Given the description of an element on the screen output the (x, y) to click on. 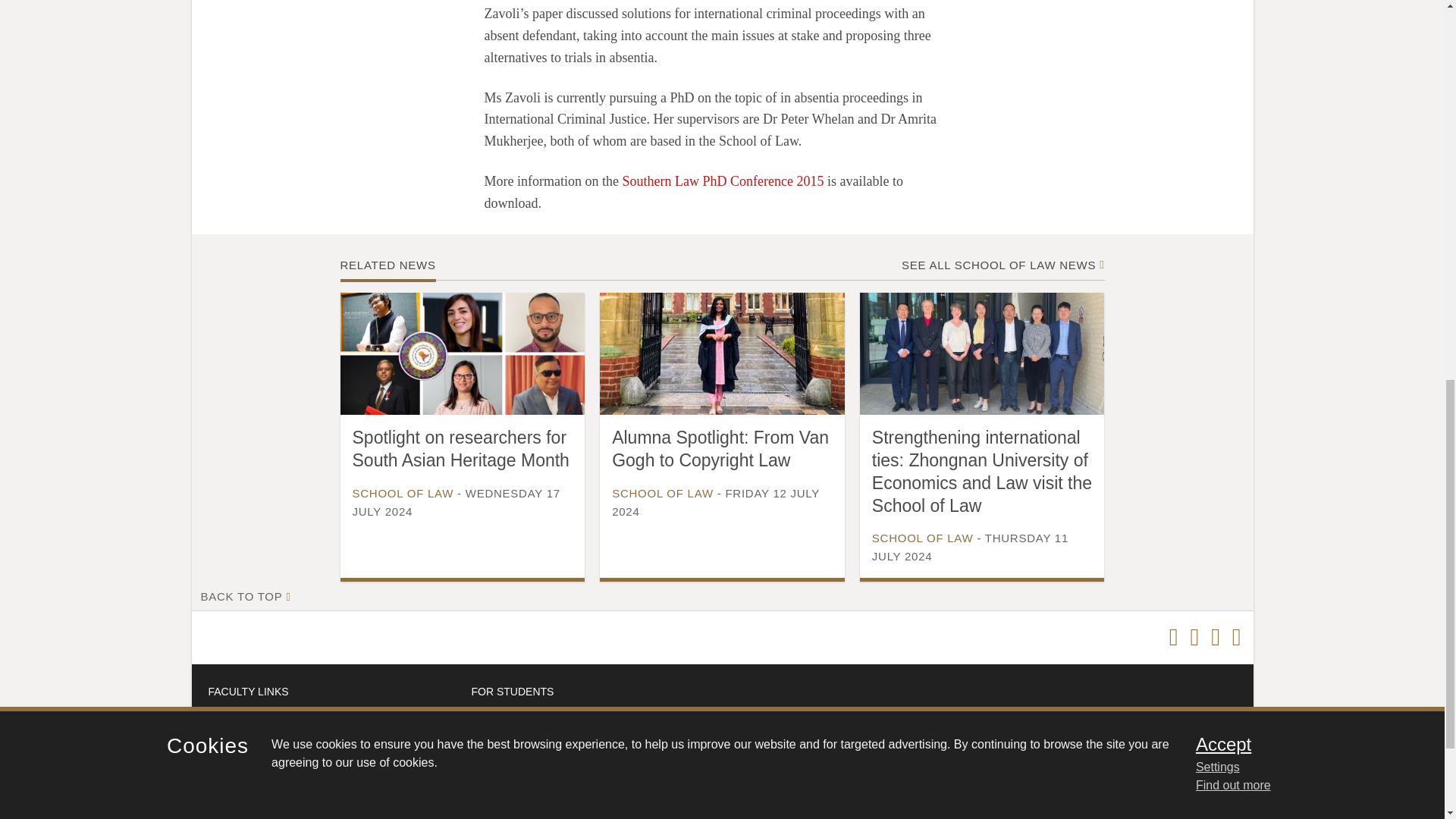
Go to Instagram page (1236, 637)
Go to Weibo page (1215, 637)
Go to Facebook page (1193, 637)
Go to Twitter page (1173, 637)
